Given the description of an element on the screen output the (x, y) to click on. 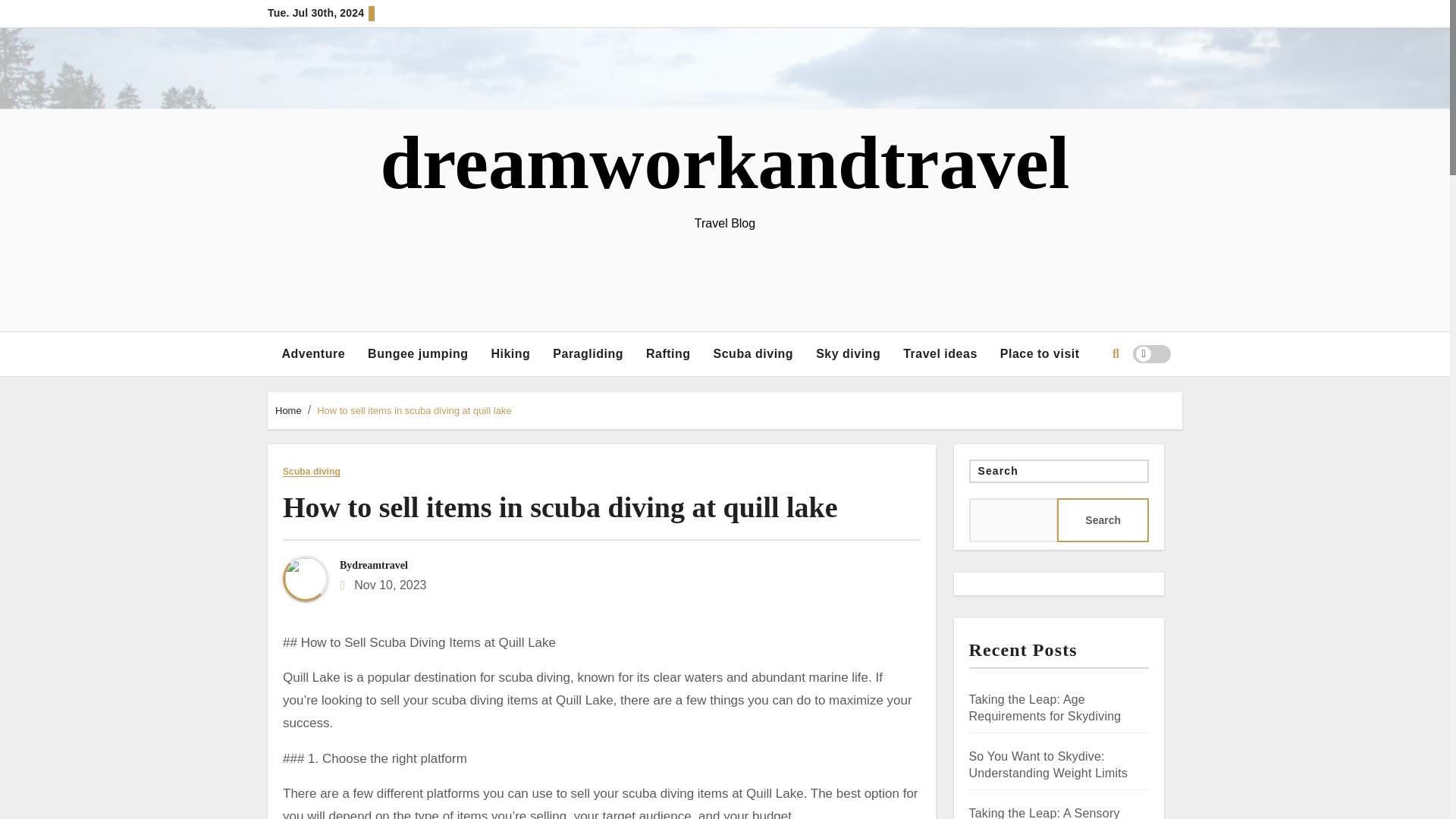
Hiking (510, 353)
Bungee jumping (417, 353)
Rafting (667, 353)
Travel ideas (939, 353)
How to sell items in scuba diving at quill lake (560, 507)
Hiking (510, 353)
Sky diving (848, 353)
Place to visit (1039, 353)
Scuba diving (311, 471)
Scuba diving (753, 353)
Scuba diving (753, 353)
Rafting (667, 353)
How to sell items in scuba diving at quill lake (414, 410)
Paragliding (587, 353)
Paragliding (587, 353)
